Given the description of an element on the screen output the (x, y) to click on. 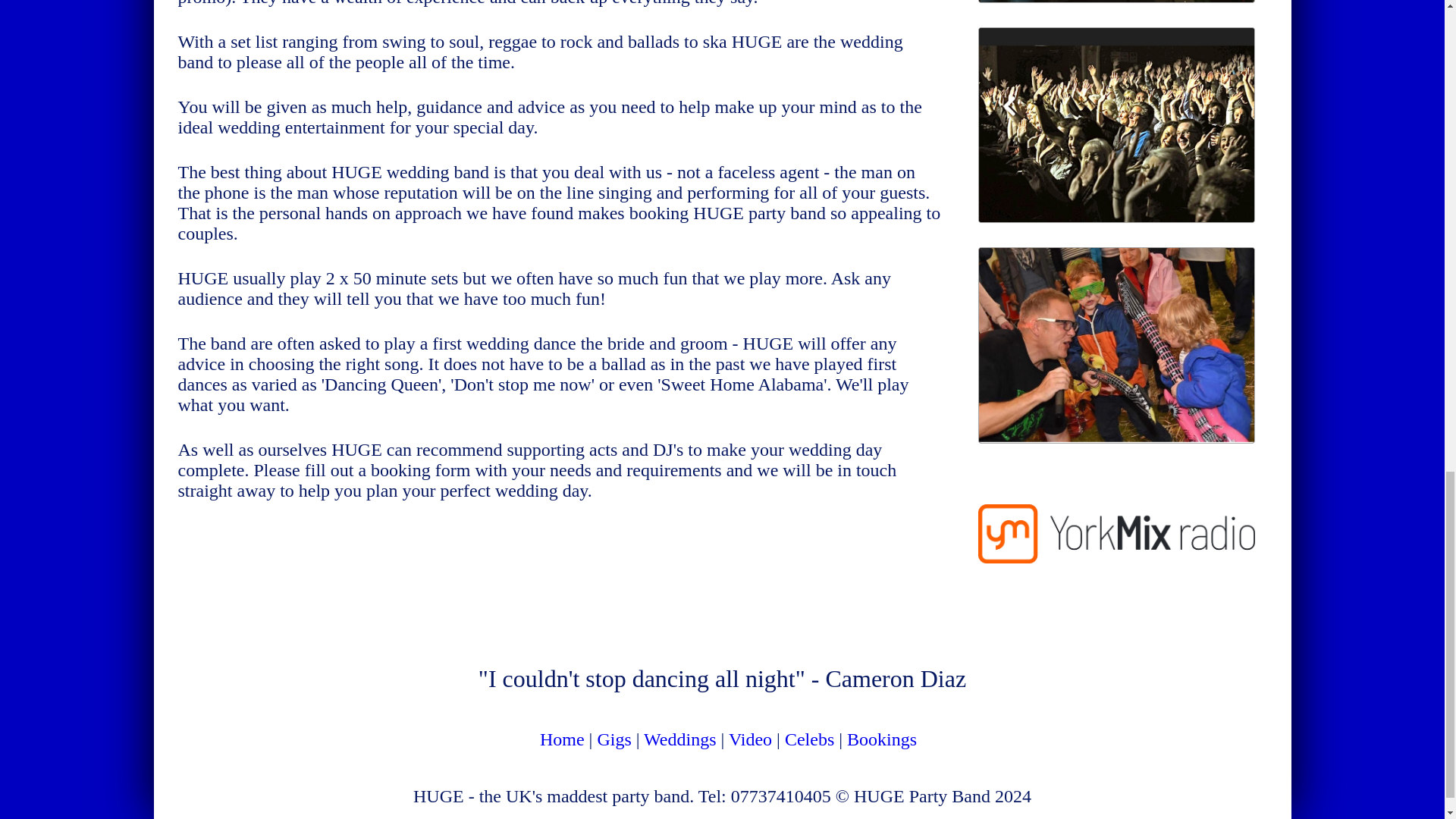
Weddings (679, 739)
Celebs (809, 739)
Bookings (882, 739)
Gigs (613, 739)
Video (750, 739)
Home (562, 739)
